Given the description of an element on the screen output the (x, y) to click on. 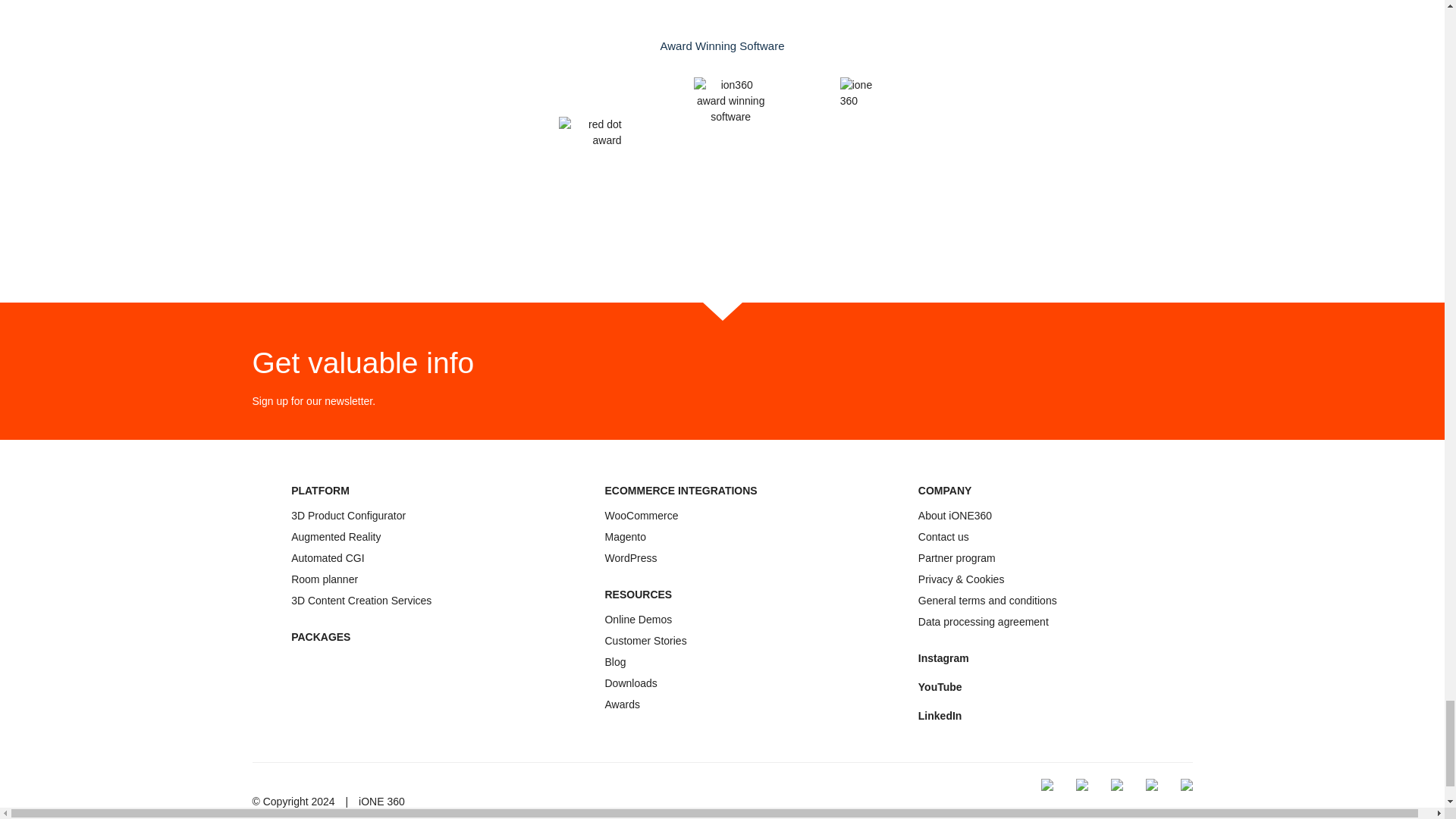
IONE360 A'design award (1115, 784)
IONE360 RedDot Design award (1081, 784)
